Given the description of an element on the screen output the (x, y) to click on. 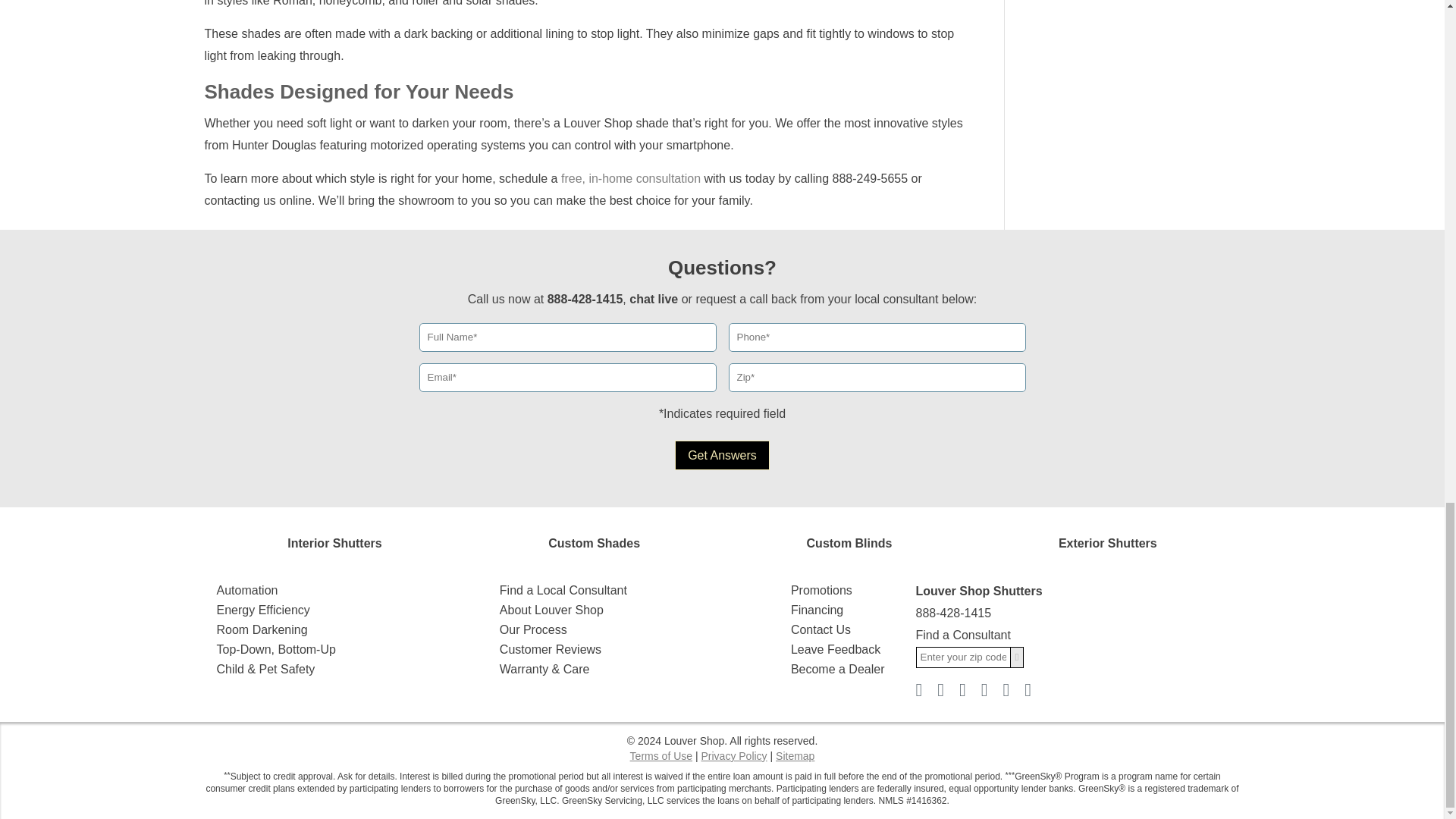
Get Answers (722, 455)
